Given the description of an element on the screen output the (x, y) to click on. 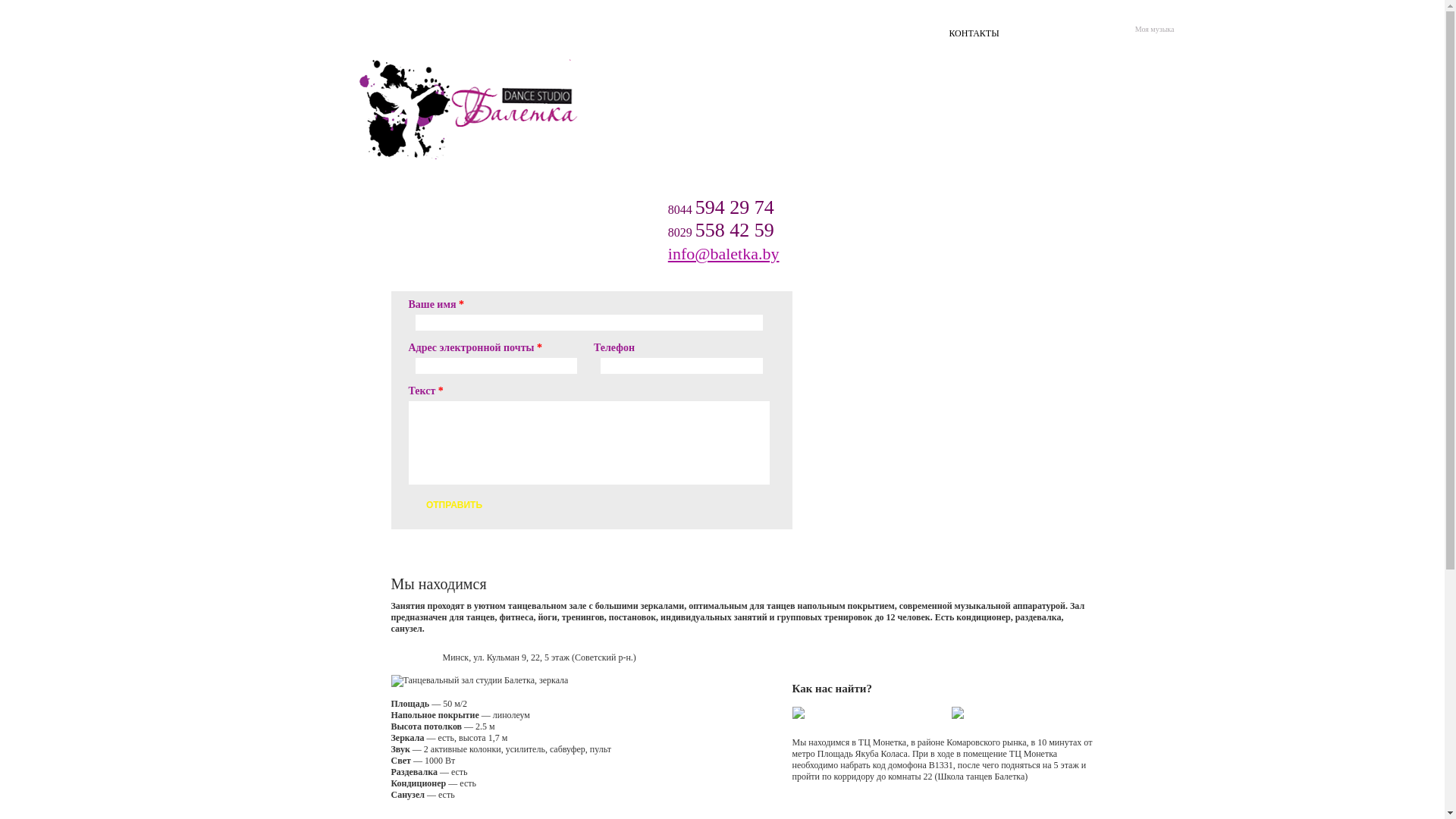
info@baletka.by Element type: text (723, 253)
